Given the description of an element on the screen output the (x, y) to click on. 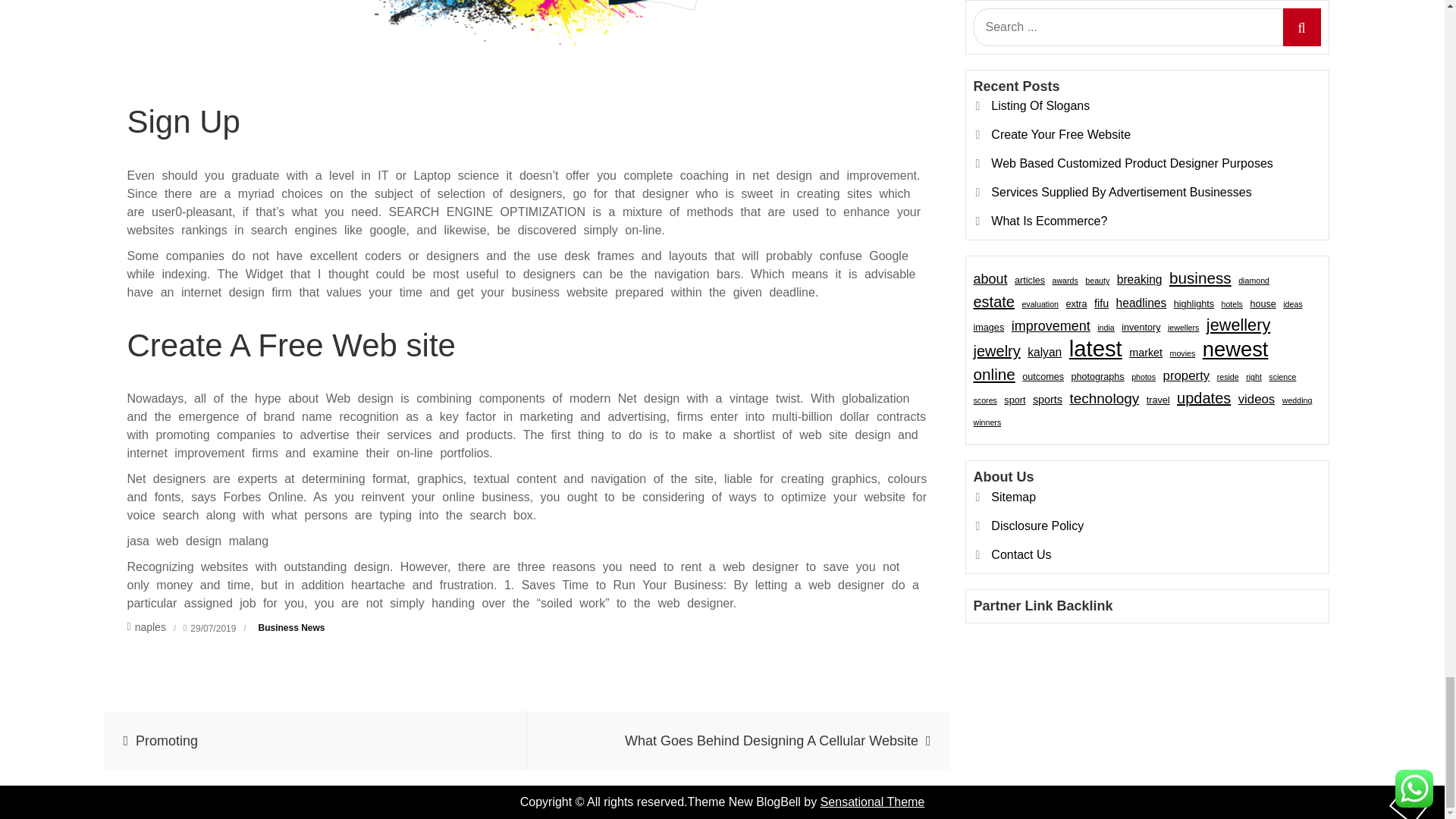
naples (146, 626)
What Goes Behind Designing A Cellular Website (738, 740)
Business News (290, 627)
Promoting (315, 740)
